Given the description of an element on the screen output the (x, y) to click on. 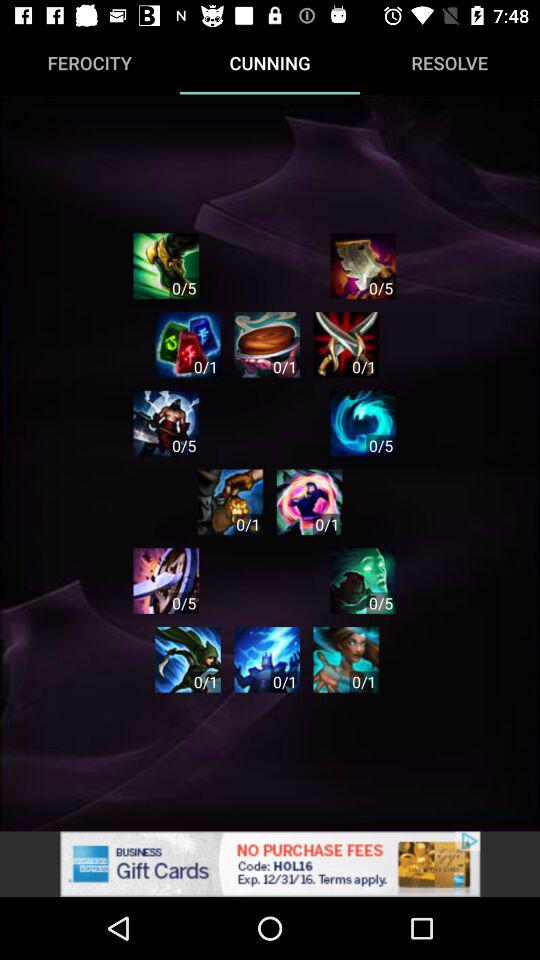
advertisement (363, 265)
